Given the description of an element on the screen output the (x, y) to click on. 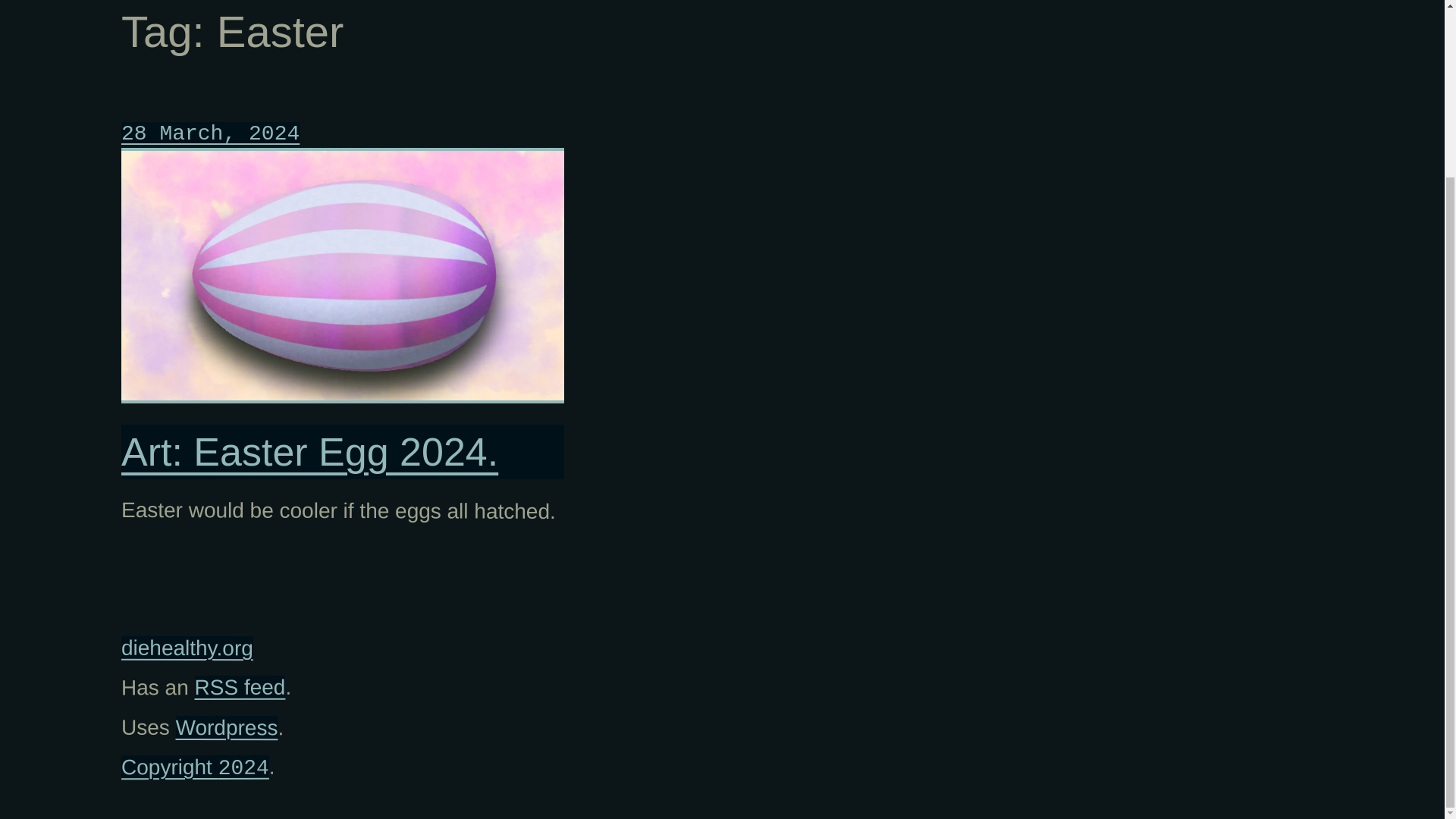
RSS feed (239, 687)
Art: Easter Egg 2024. (342, 452)
diehealthy.org (186, 647)
Wordpress (227, 726)
28 March, 2024 (209, 133)
Copyright 2024 (194, 766)
